Given the description of an element on the screen output the (x, y) to click on. 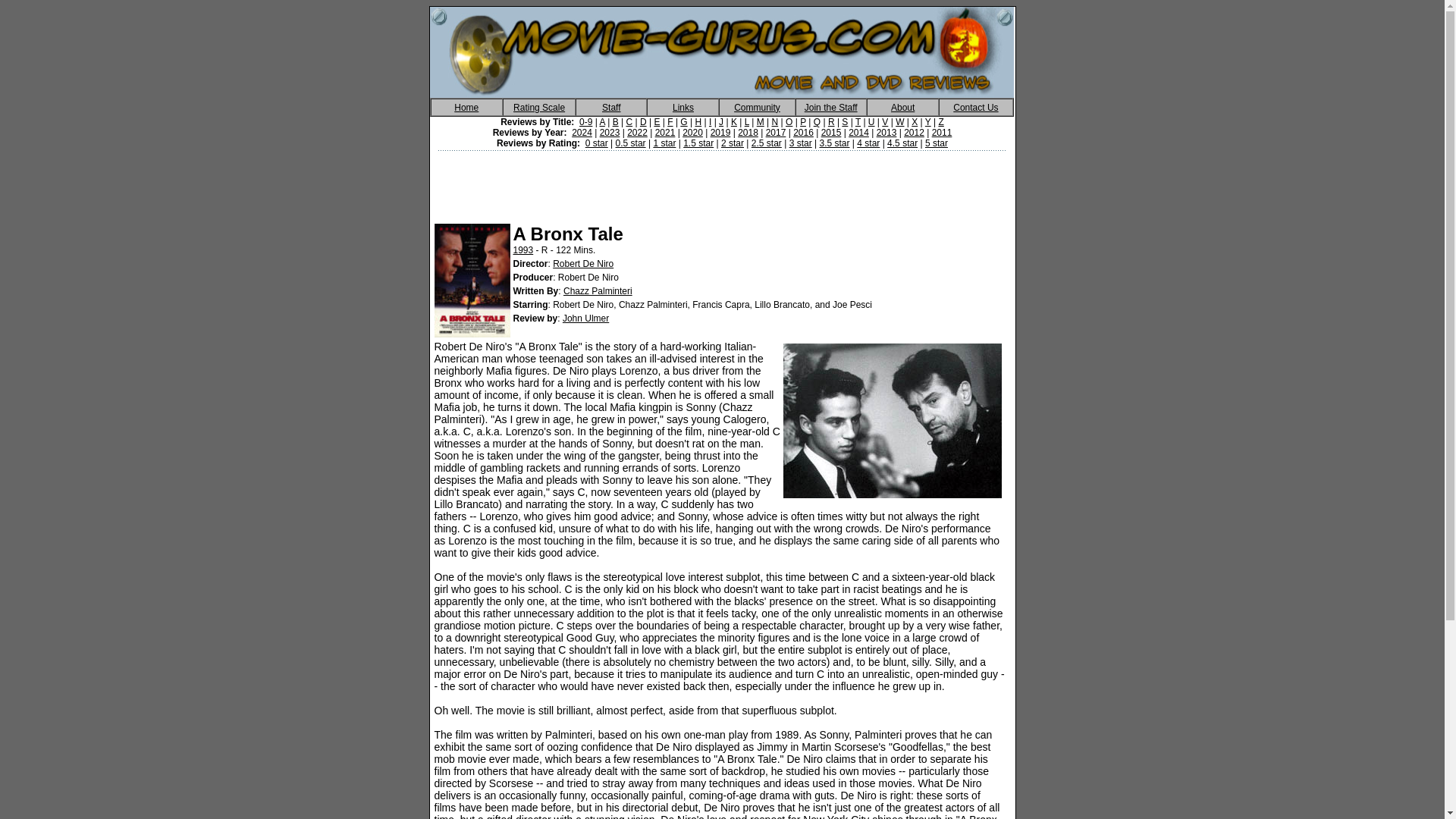
2024 (582, 132)
Join the Staff (831, 106)
Contact Us (975, 106)
2023 (609, 132)
2020 (692, 132)
Rating Scale (538, 106)
2022 (637, 132)
Links (683, 106)
Advertisement (722, 182)
Staff (611, 106)
Home (466, 106)
2021 (665, 132)
About (902, 106)
0-9 (585, 122)
Community (756, 106)
